Given the description of an element on the screen output the (x, y) to click on. 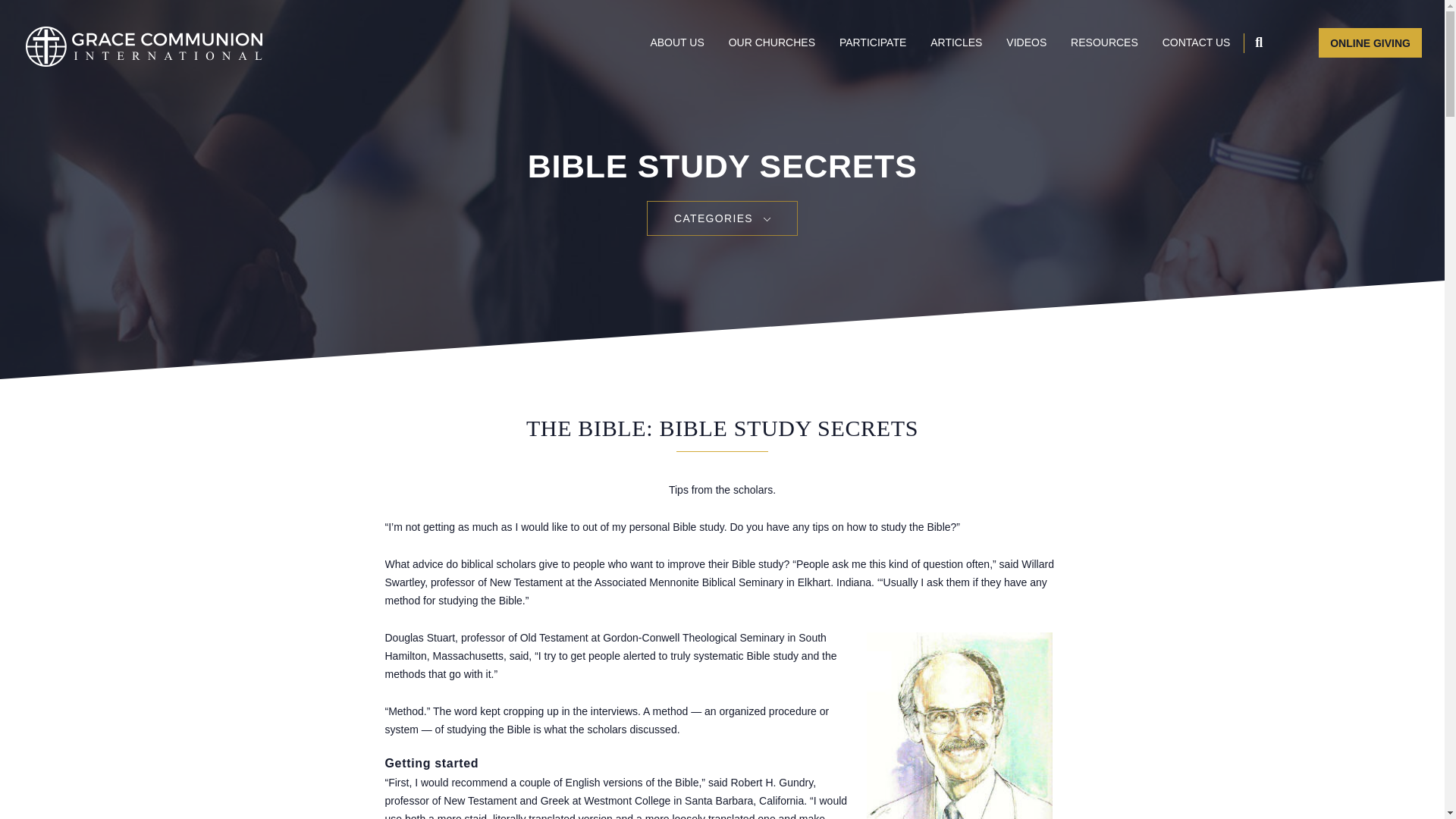
VIDEOS (1026, 41)
ARTICLES (955, 41)
OUR CHURCHES (772, 41)
CONTACT US (1195, 41)
PARTICIPATE (872, 41)
RESOURCES (1104, 41)
ABOUT US (676, 41)
Grace Communion International (144, 46)
